Given the description of an element on the screen output the (x, y) to click on. 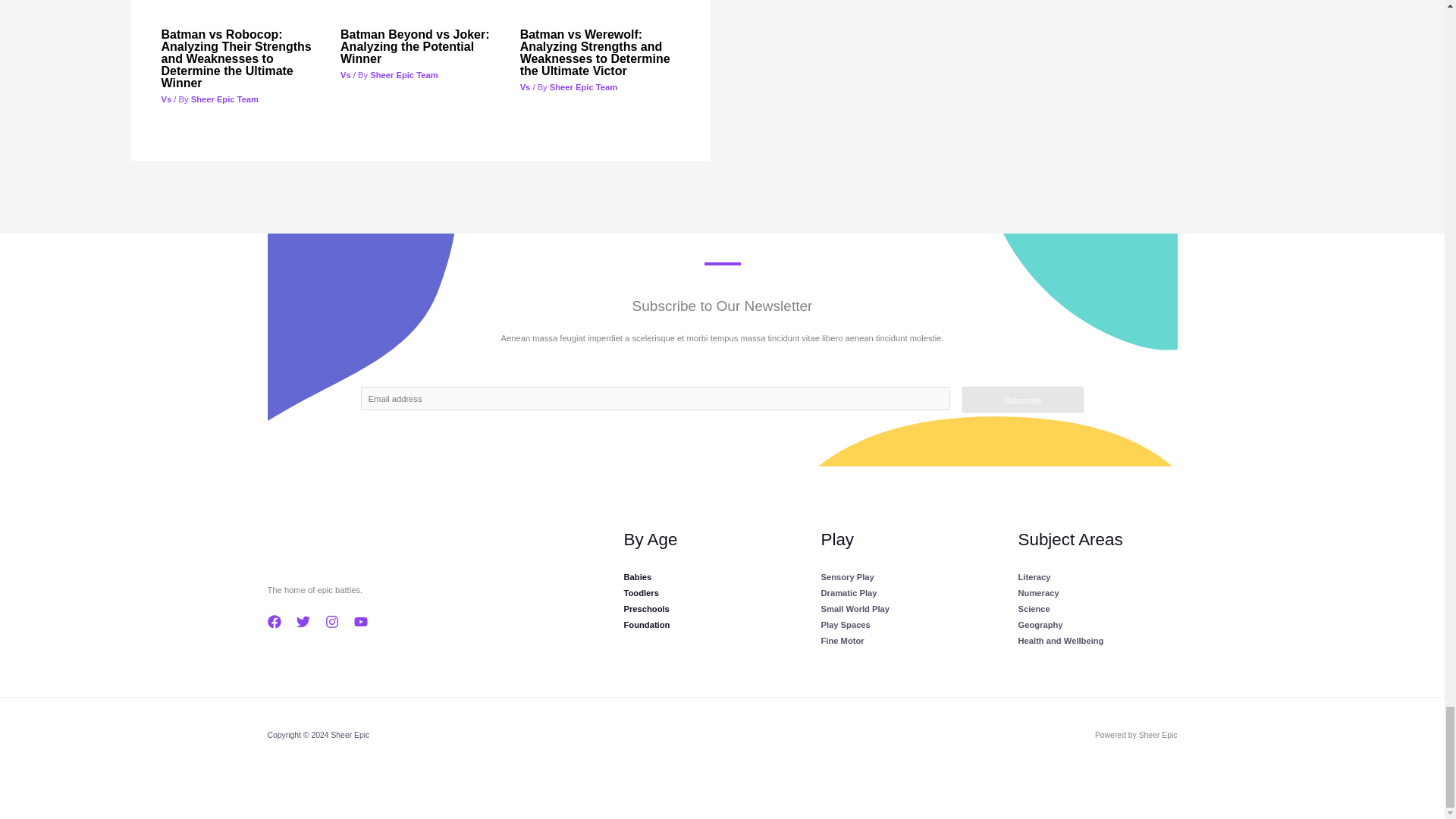
Sheer Epic Team (583, 86)
Vs (345, 74)
Vs (525, 86)
Sheer Epic Team (224, 99)
View all posts by Sheer Epic Team (224, 99)
View all posts by Sheer Epic Team (403, 74)
Batman Beyond vs Joker: Analyzing the Potential Winner (414, 46)
Vs (165, 99)
View all posts by Sheer Epic Team (583, 86)
Sheer Epic Team (403, 74)
